Given the description of an element on the screen output the (x, y) to click on. 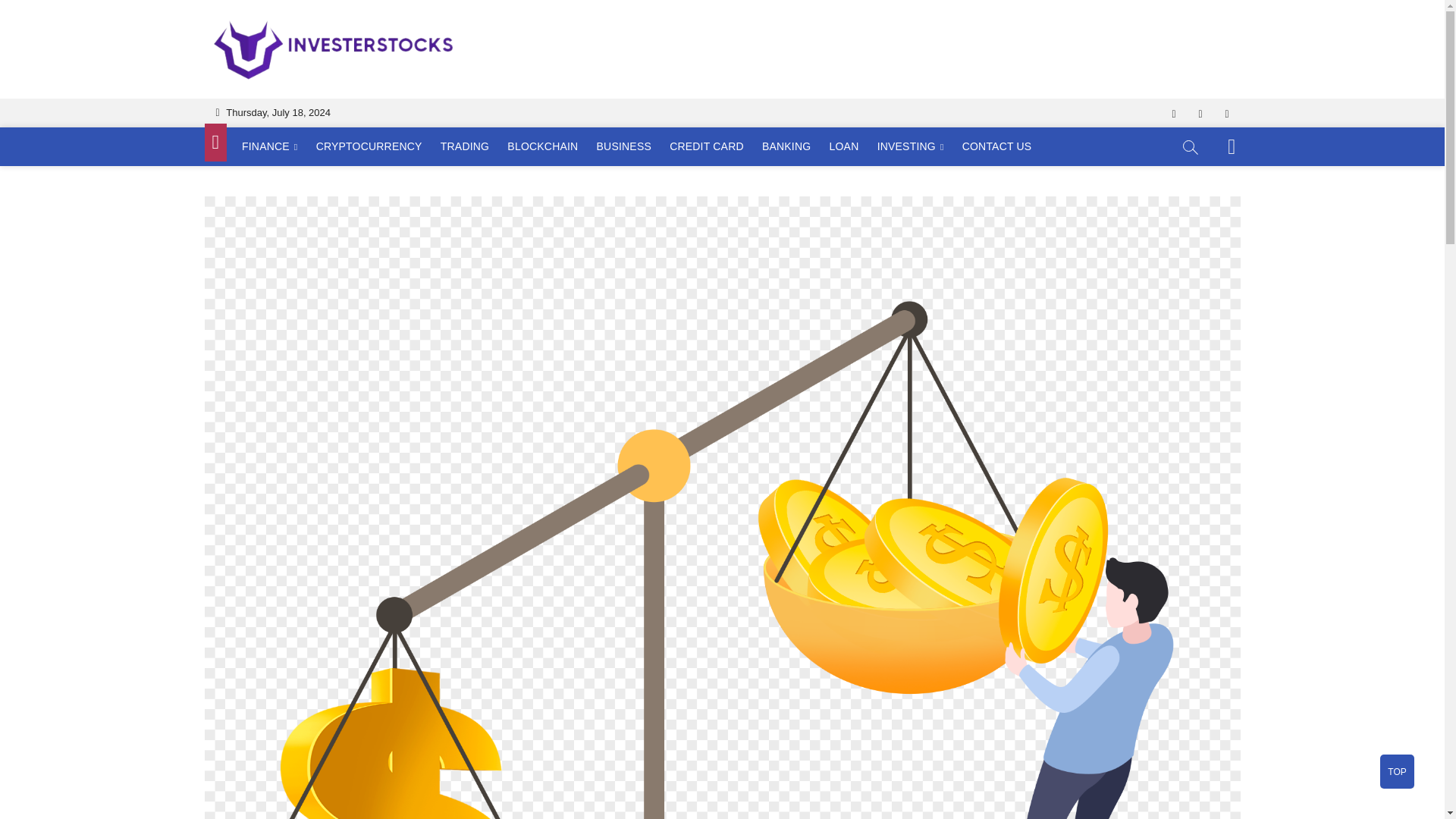
BUSINESS (624, 146)
LOAN (844, 146)
Investerstocks (542, 42)
CREDIT CARD (706, 146)
linkedin (1226, 113)
CONTACT US (997, 146)
TRADING (464, 146)
INVESTING (910, 146)
facebook (1173, 113)
BLOCKCHAIN (542, 146)
CRYPTOCURRENCY (368, 146)
instagram (1201, 113)
Investerstocks (542, 42)
BANKING (786, 146)
FINANCE (269, 146)
